Given the description of an element on the screen output the (x, y) to click on. 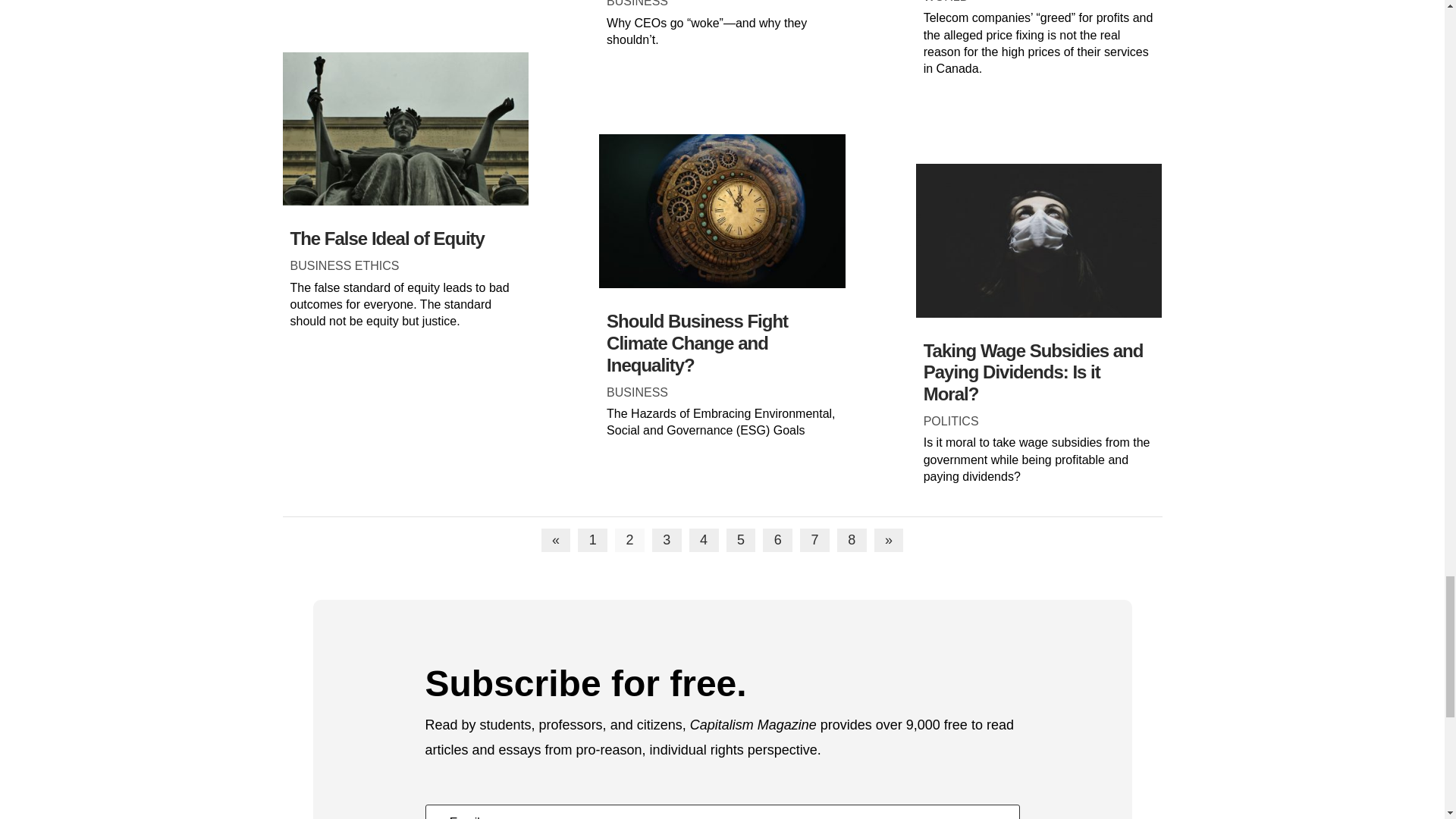
Page 1 (592, 540)
Page 4 (703, 540)
Page 8 (851, 540)
Page 6 (777, 540)
Page 5 (740, 540)
Page 7 (814, 540)
Page 3 (666, 540)
